Given the description of an element on the screen output the (x, y) to click on. 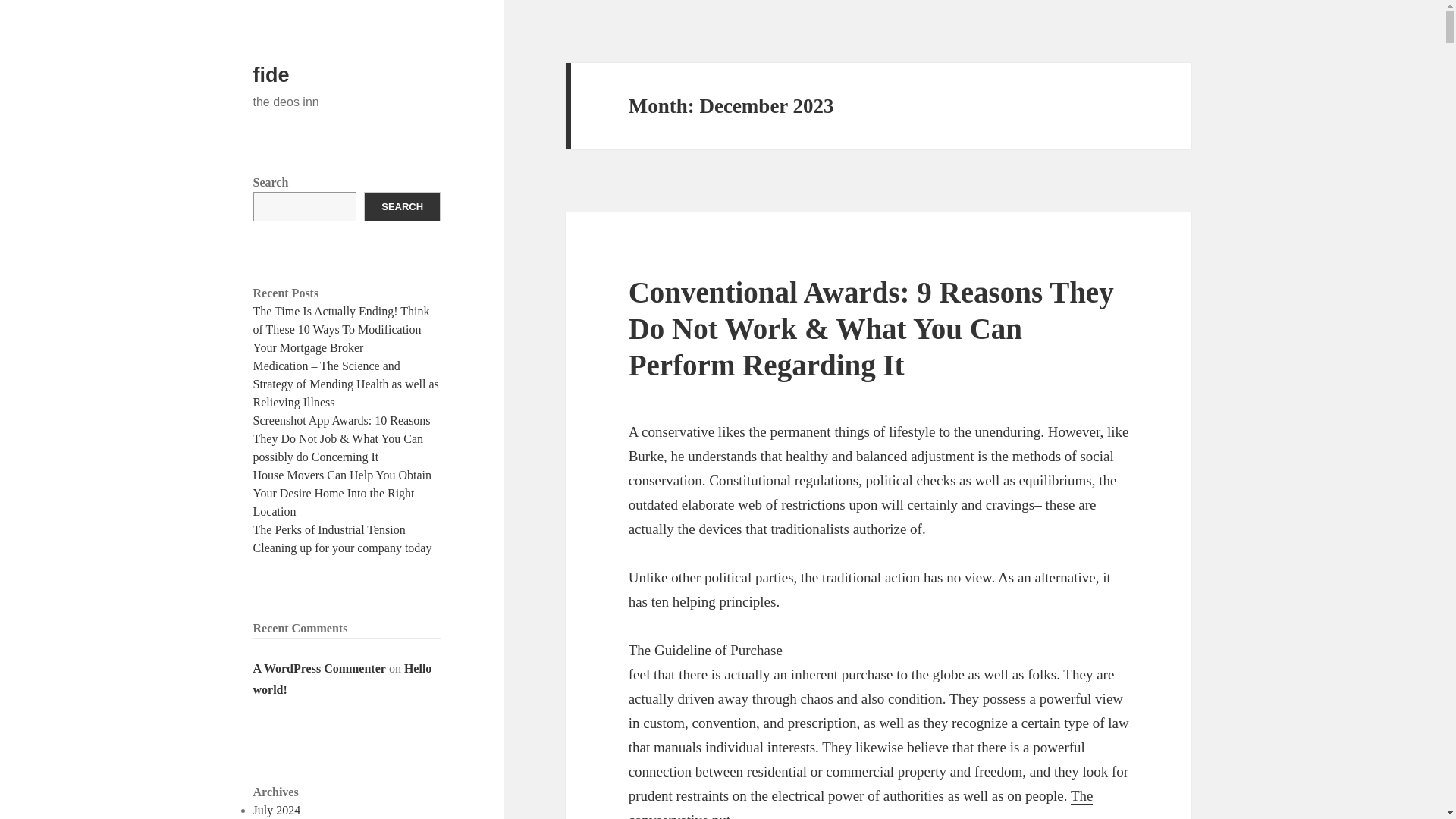
A WordPress Commenter (319, 667)
fide (271, 74)
Hello world! (342, 678)
July 2024 (277, 809)
SEARCH (402, 206)
The convservative nut (860, 803)
